Given the description of an element on the screen output the (x, y) to click on. 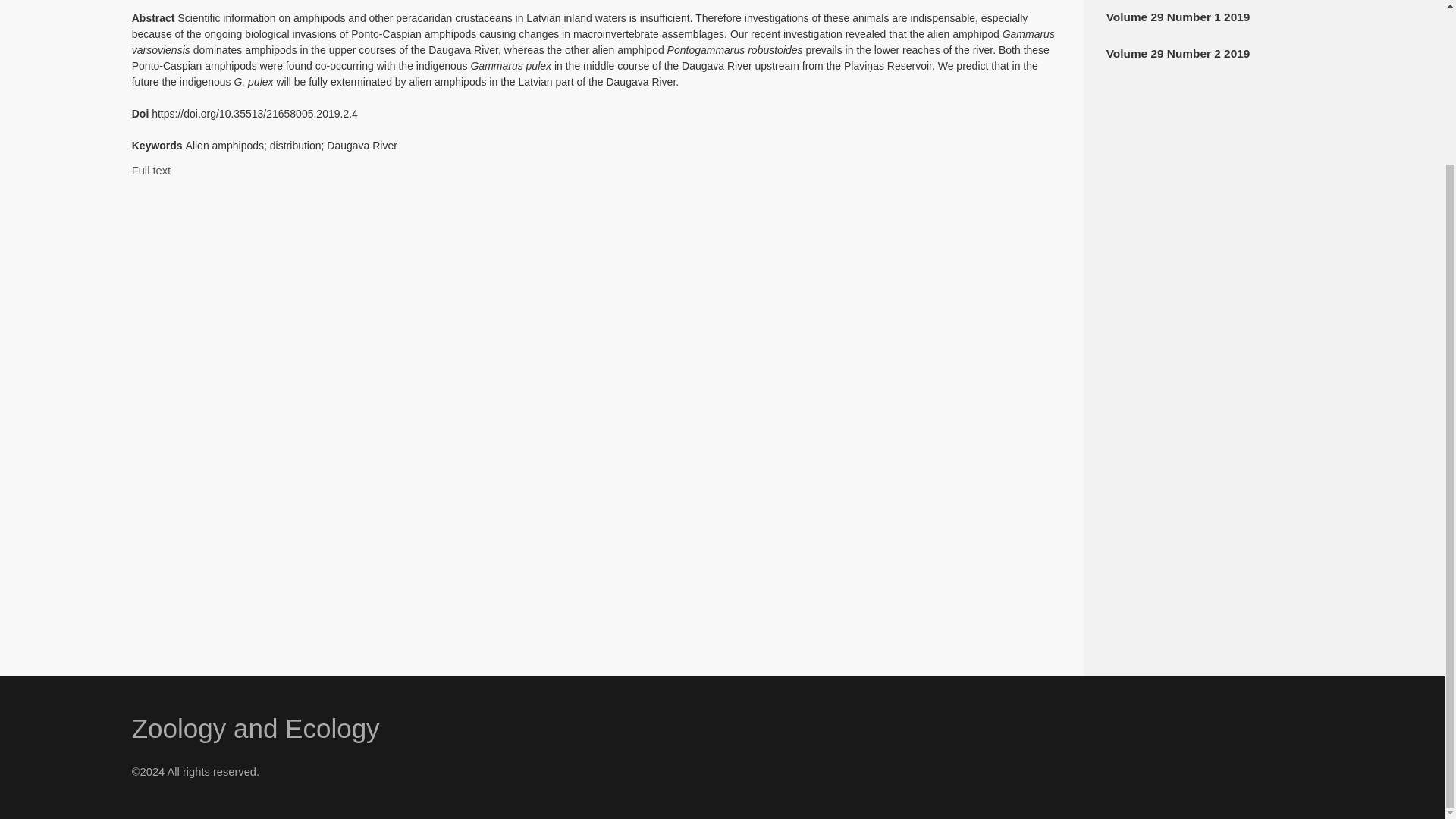
Zoology and Ecology (256, 728)
Full text (151, 170)
Volume 29 Number 2 2019 (1178, 53)
Volume 29 Number 1 2019 (1178, 17)
